Given the description of an element on the screen output the (x, y) to click on. 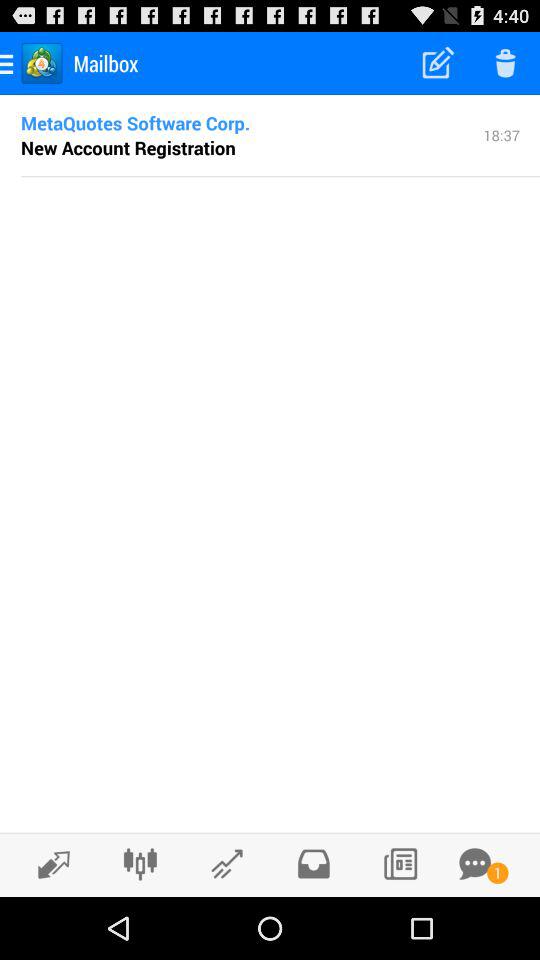
jump until metaquotes software corp. icon (135, 122)
